Given the description of an element on the screen output the (x, y) to click on. 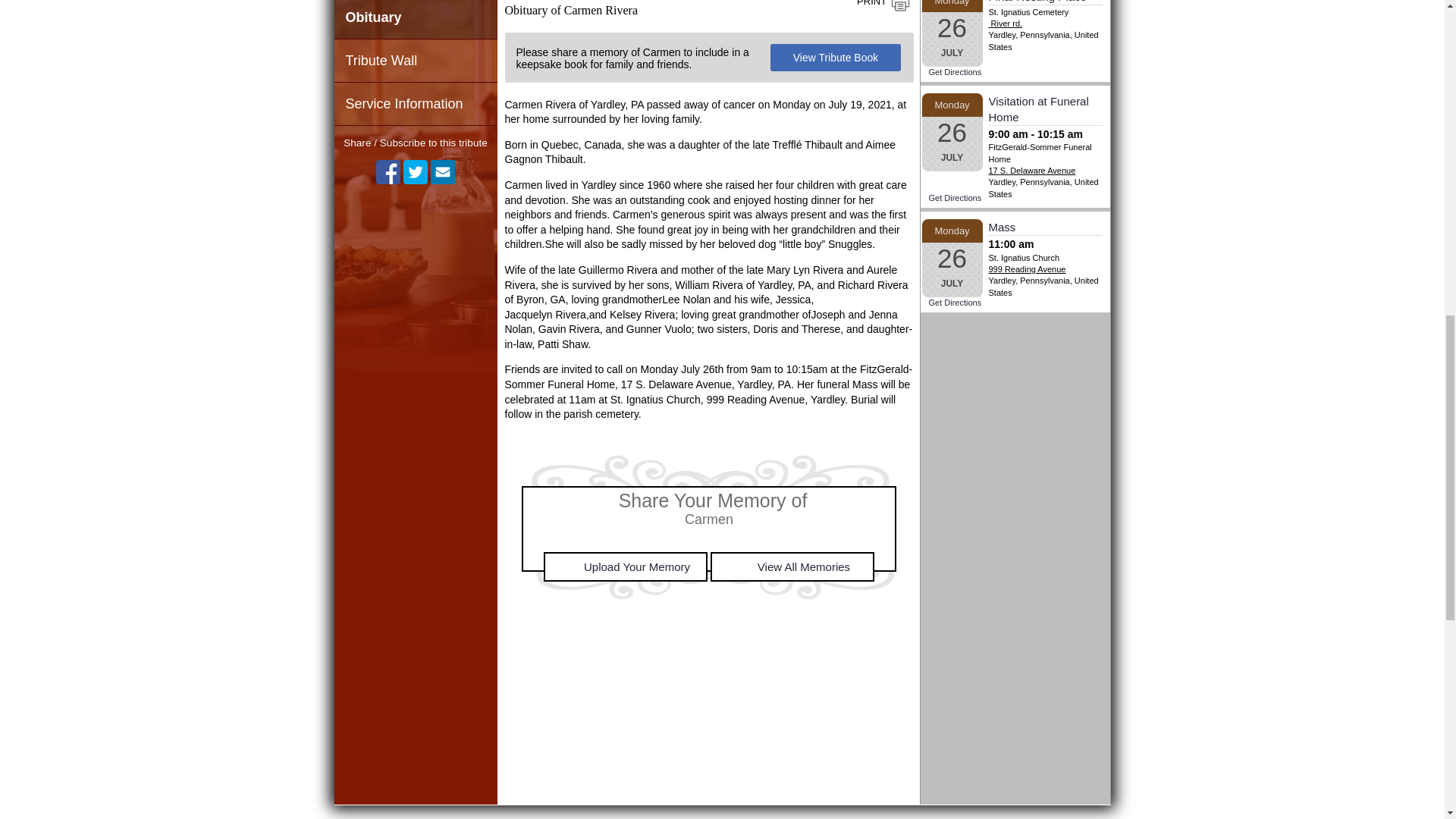
Service Information (414, 104)
Twitter (415, 171)
Facebook (387, 171)
Tribute Wall (414, 60)
Receive Notifications (442, 171)
Print (882, 5)
Obituary (414, 19)
